Given the description of an element on the screen output the (x, y) to click on. 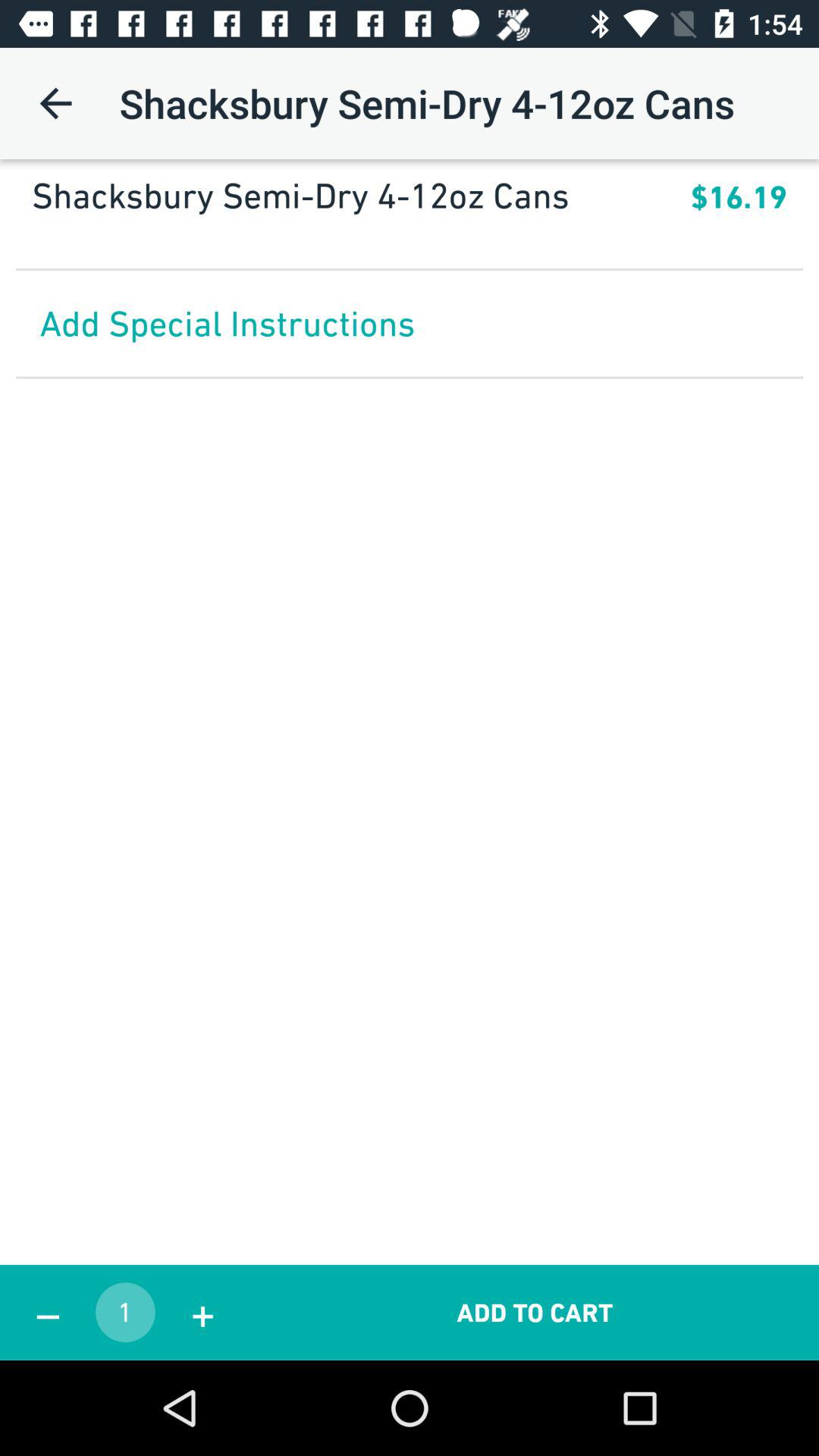
click icon below the shacksbury semi dry app (738, 197)
